Given the description of an element on the screen output the (x, y) to click on. 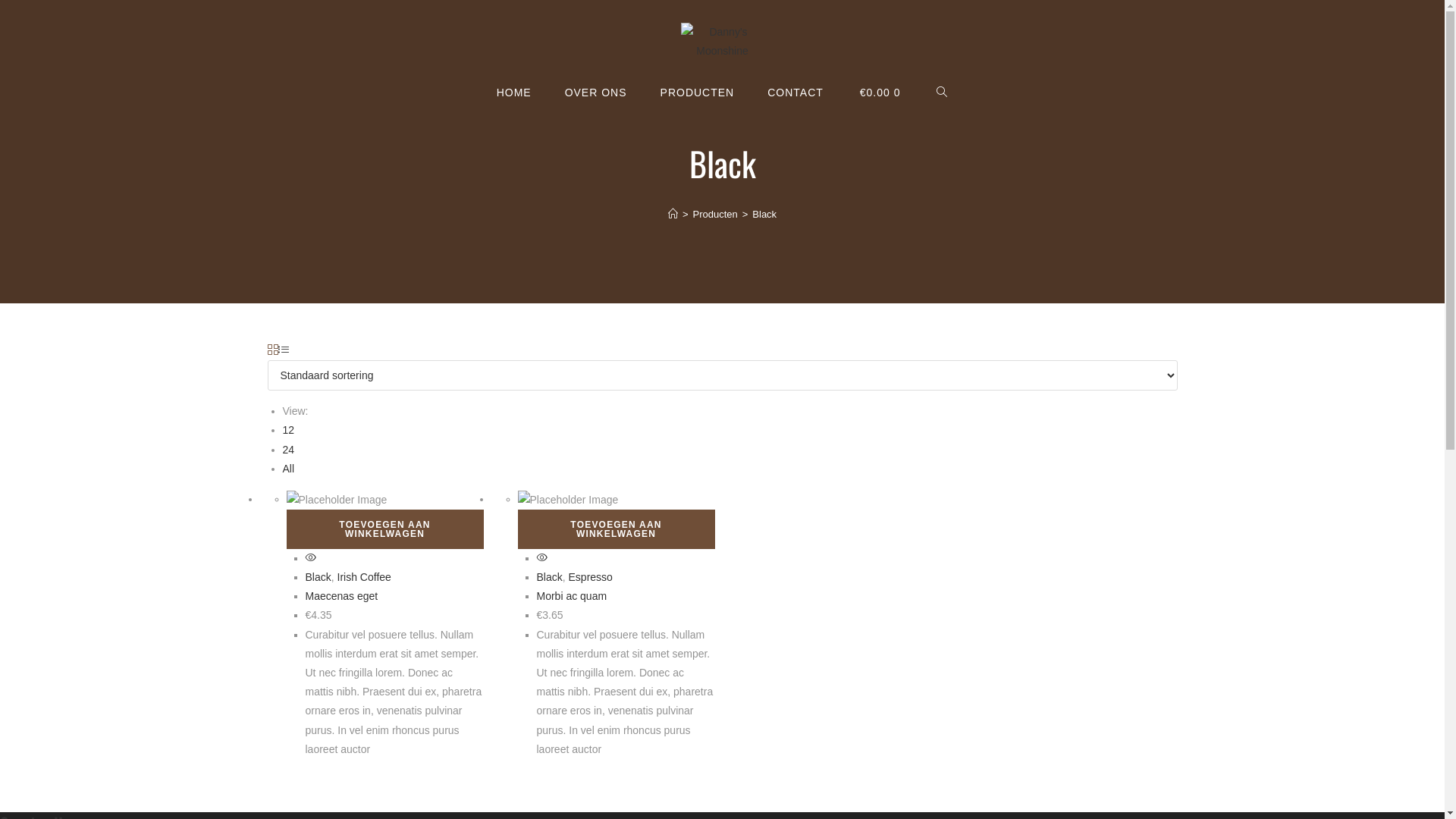
TOEVOEGEN AAN WINKELWAGEN Element type: text (615, 529)
Maecenas eget Element type: text (340, 595)
24 Element type: text (288, 449)
TOEVOEGEN AAN WINKELWAGEN Element type: text (384, 529)
12 Element type: text (288, 429)
HOME Element type: text (514, 92)
CONTACT Element type: text (795, 92)
PRODUCTEN Element type: text (697, 92)
List view Element type: hover (282, 350)
All Element type: text (288, 468)
Producten Element type: text (714, 213)
Irish Coffee Element type: text (364, 577)
Black Element type: text (317, 577)
Black Element type: text (764, 213)
Espresso Element type: text (590, 577)
Grid view Element type: hover (271, 350)
Black Element type: text (549, 577)
Morbi ac quam Element type: text (571, 595)
OVER ONS Element type: text (595, 92)
